Given the description of an element on the screen output the (x, y) to click on. 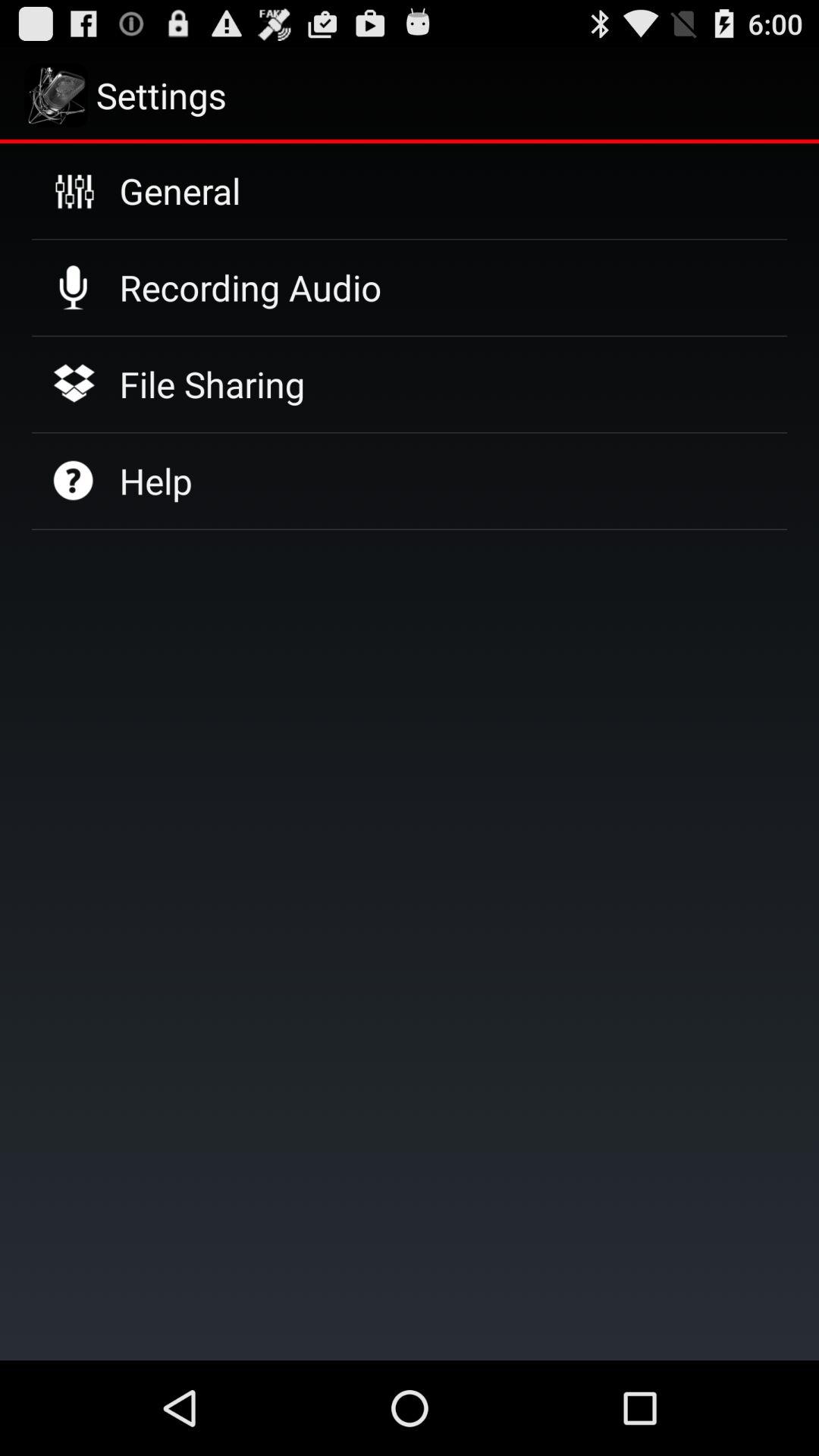
launch icon above the file sharing (250, 287)
